Given the description of an element on the screen output the (x, y) to click on. 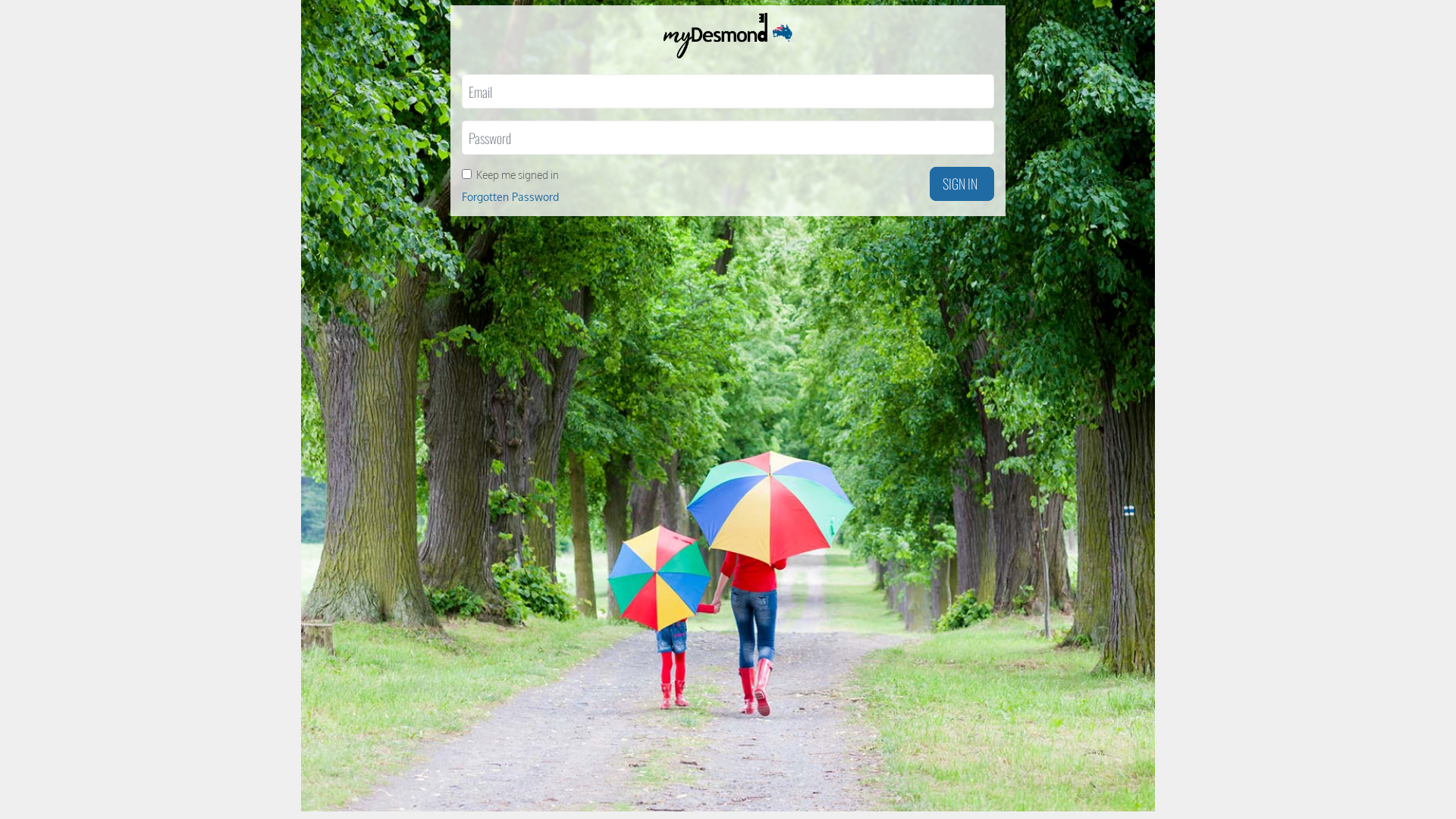
Forgotten Password Element type: text (509, 196)
SIGN IN Element type: text (961, 183)
